Given the description of an element on the screen output the (x, y) to click on. 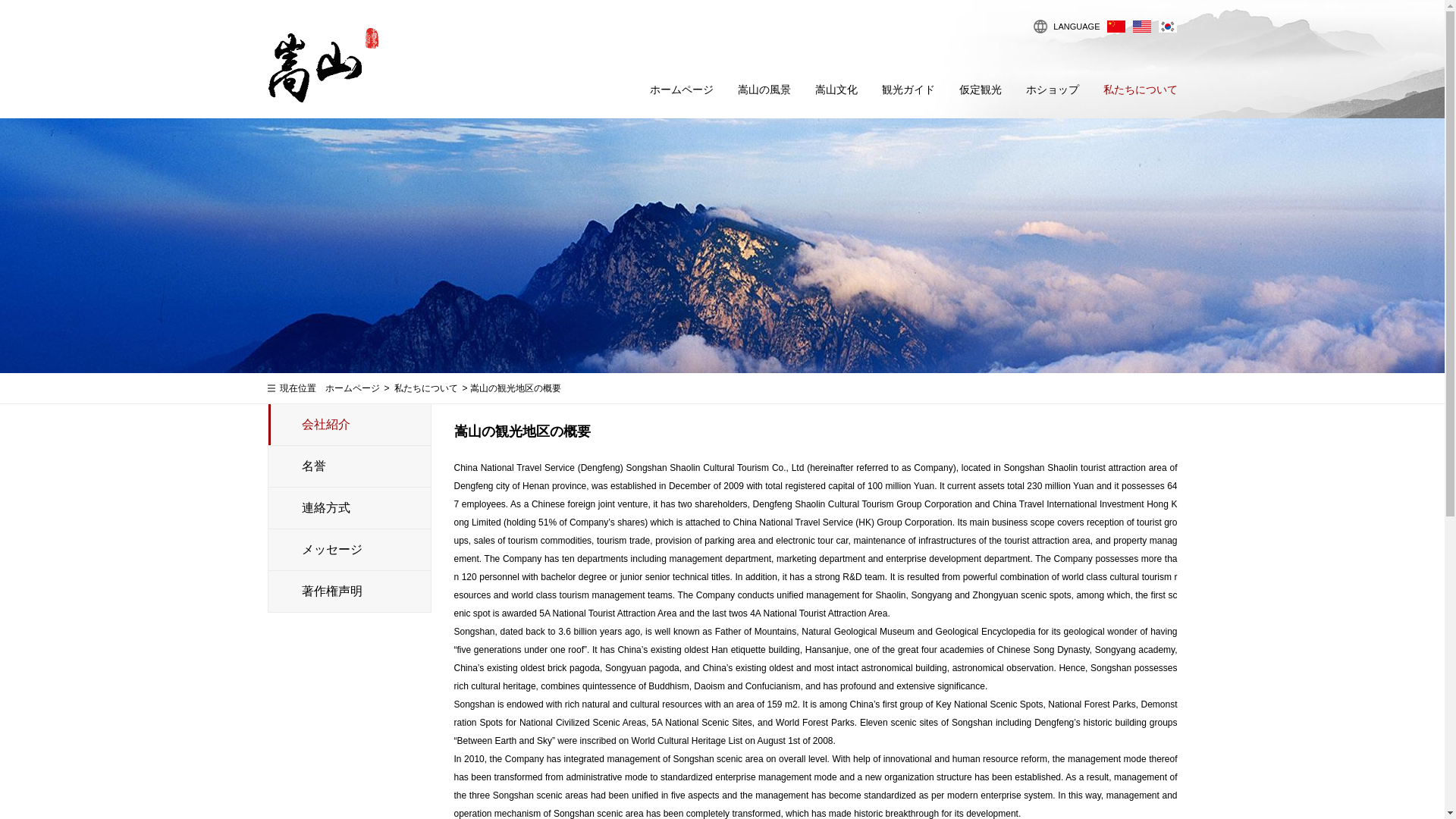
ENGLISH (1141, 26)
ENGLISH (1141, 26)
